Given the description of an element on the screen output the (x, y) to click on. 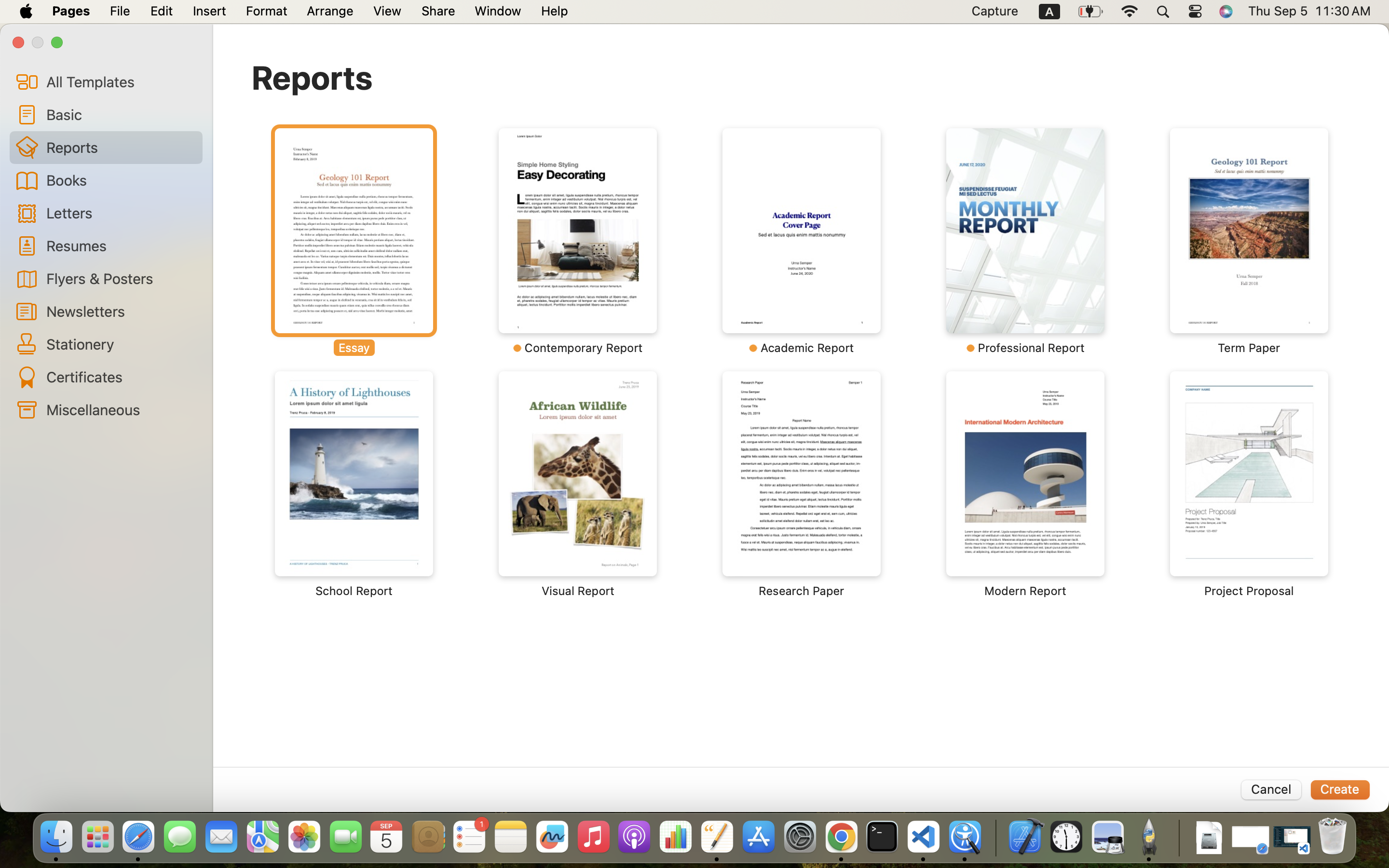
‎⁨Modern Report⁩ Element type: AXButton (1025, 484)
Reports Element type: AXStaticText (311, 76)
‎￼ ⁨Academic Report⁩ Element type: AXButton (801, 241)
All Templates Element type: AXStaticText (120, 81)
‎⁨Visual Report⁩ Element type: AXButton (577, 484)
